Given the description of an element on the screen output the (x, y) to click on. 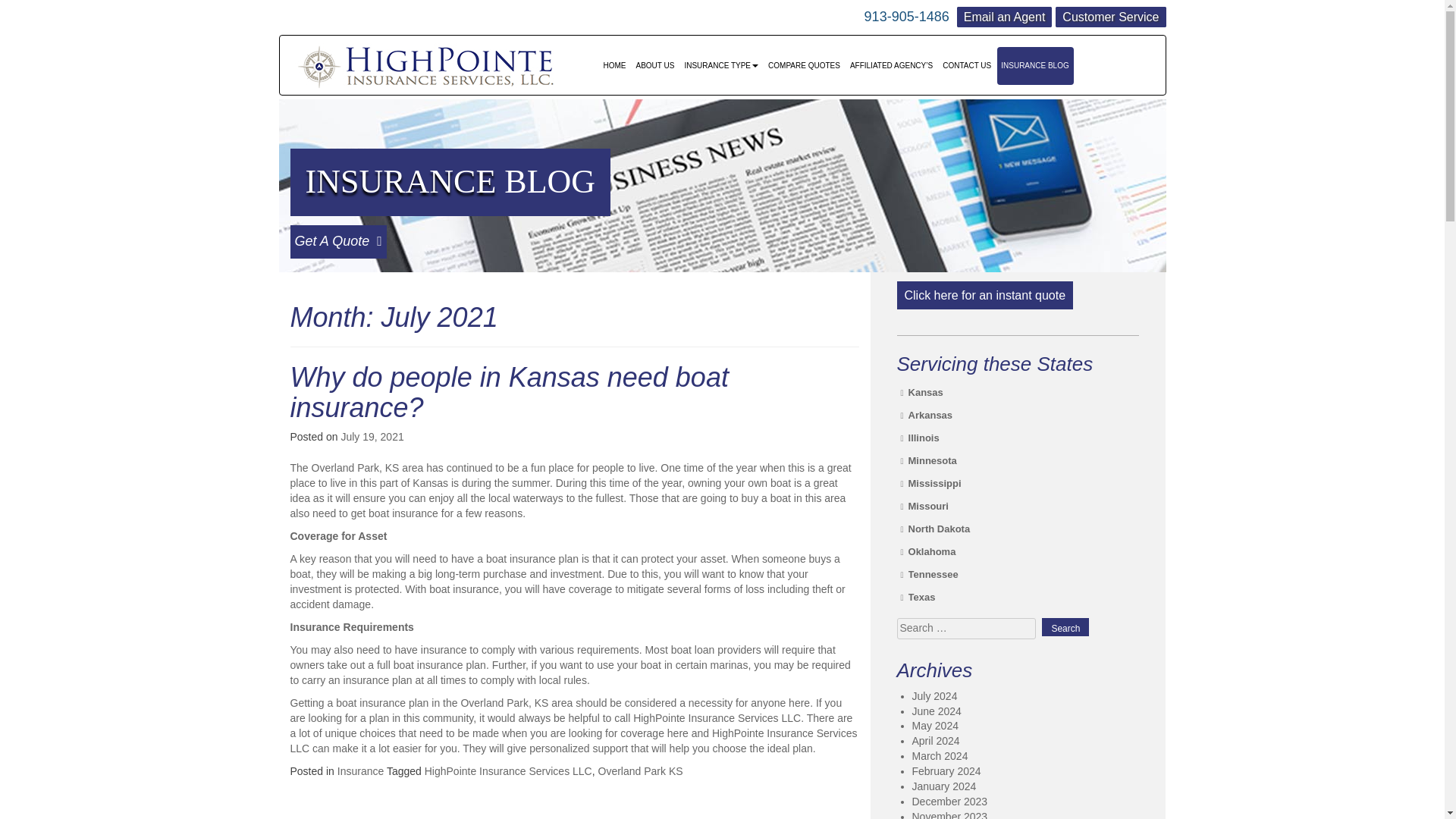
Search (1065, 627)
COMPARE QUOTES (804, 65)
ABOUT US (654, 65)
Search (1065, 627)
CONTACT US (967, 65)
Customer Service (1110, 16)
Click here for an instant quote (984, 295)
Email an Agent (1004, 16)
Why do people in Kansas need boat insurance? (508, 392)
Search (1065, 627)
